Given the description of an element on the screen output the (x, y) to click on. 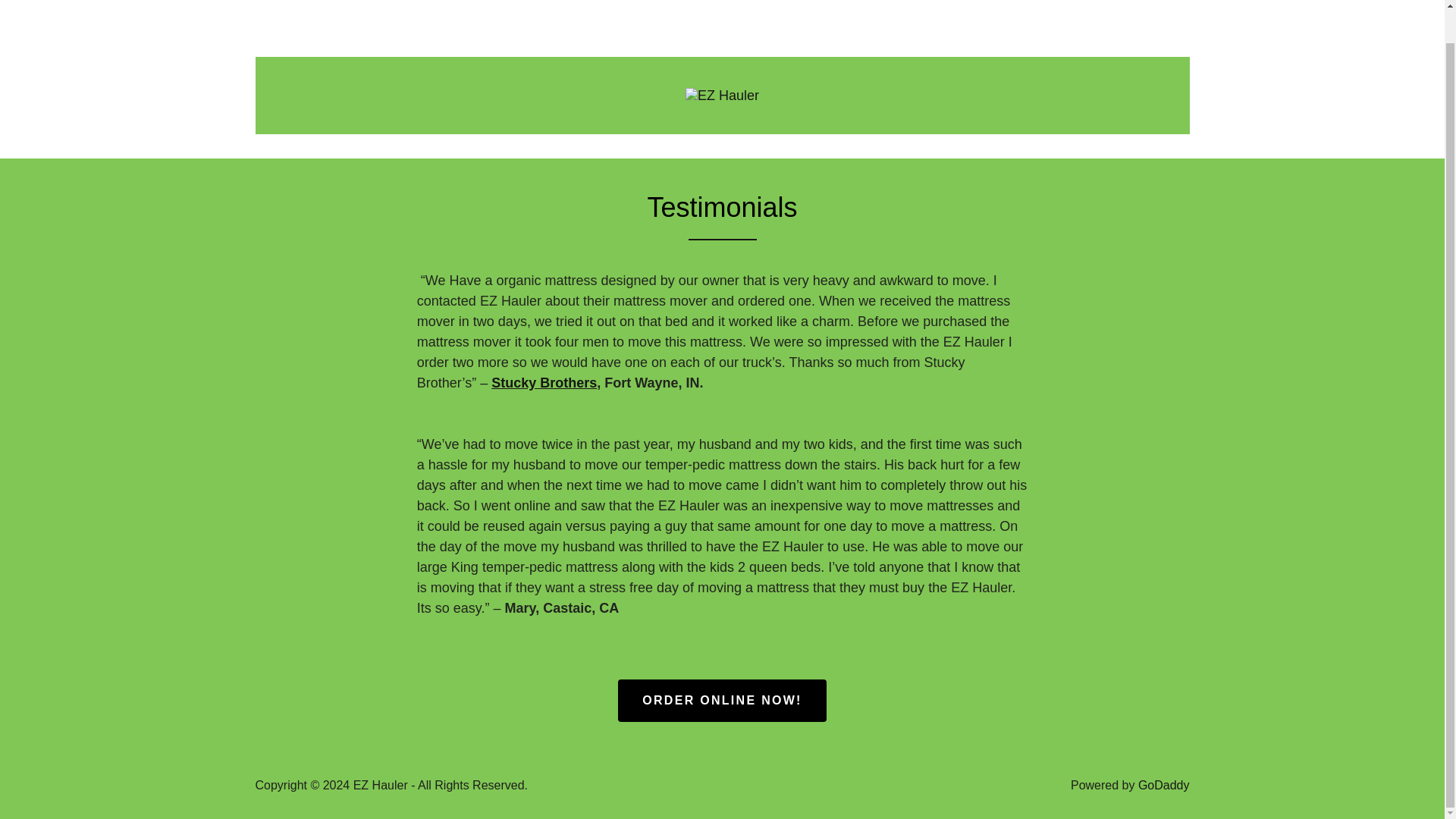
GoDaddy (1163, 784)
ORDER ONLINE NOW! (721, 700)
Stucky Brothers (544, 382)
EZ Hauler (721, 94)
